Given the description of an element on the screen output the (x, y) to click on. 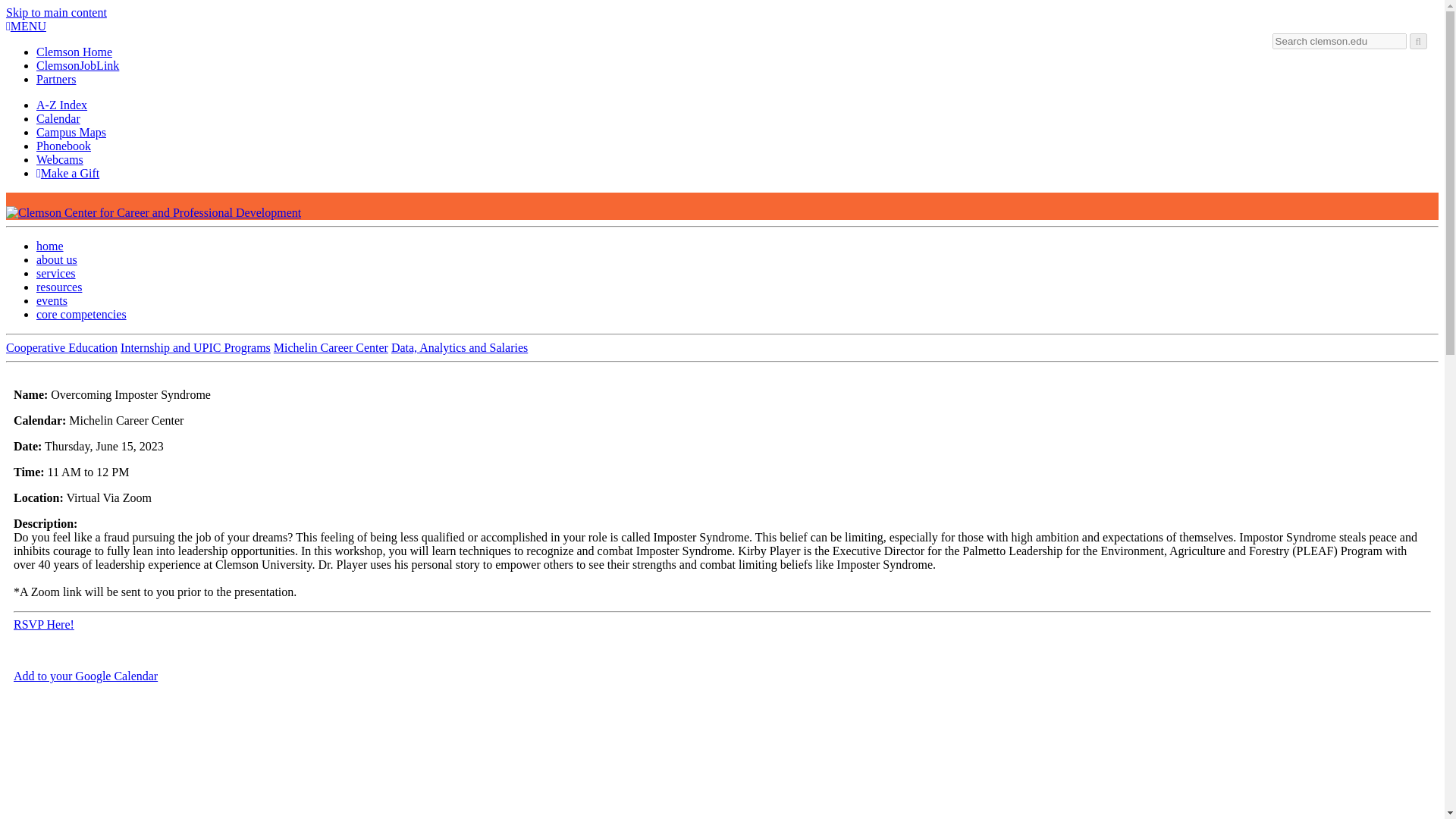
Michelin Career Center (330, 347)
ClemsonJobLink (77, 65)
Calendar (58, 118)
Data, Analytics and Salaries (459, 347)
Webcams (59, 159)
A-Z Index (61, 104)
google search box (1339, 41)
Phonebook (63, 145)
MENU (25, 25)
Internship and UPIC Programs (195, 347)
